Given the description of an element on the screen output the (x, y) to click on. 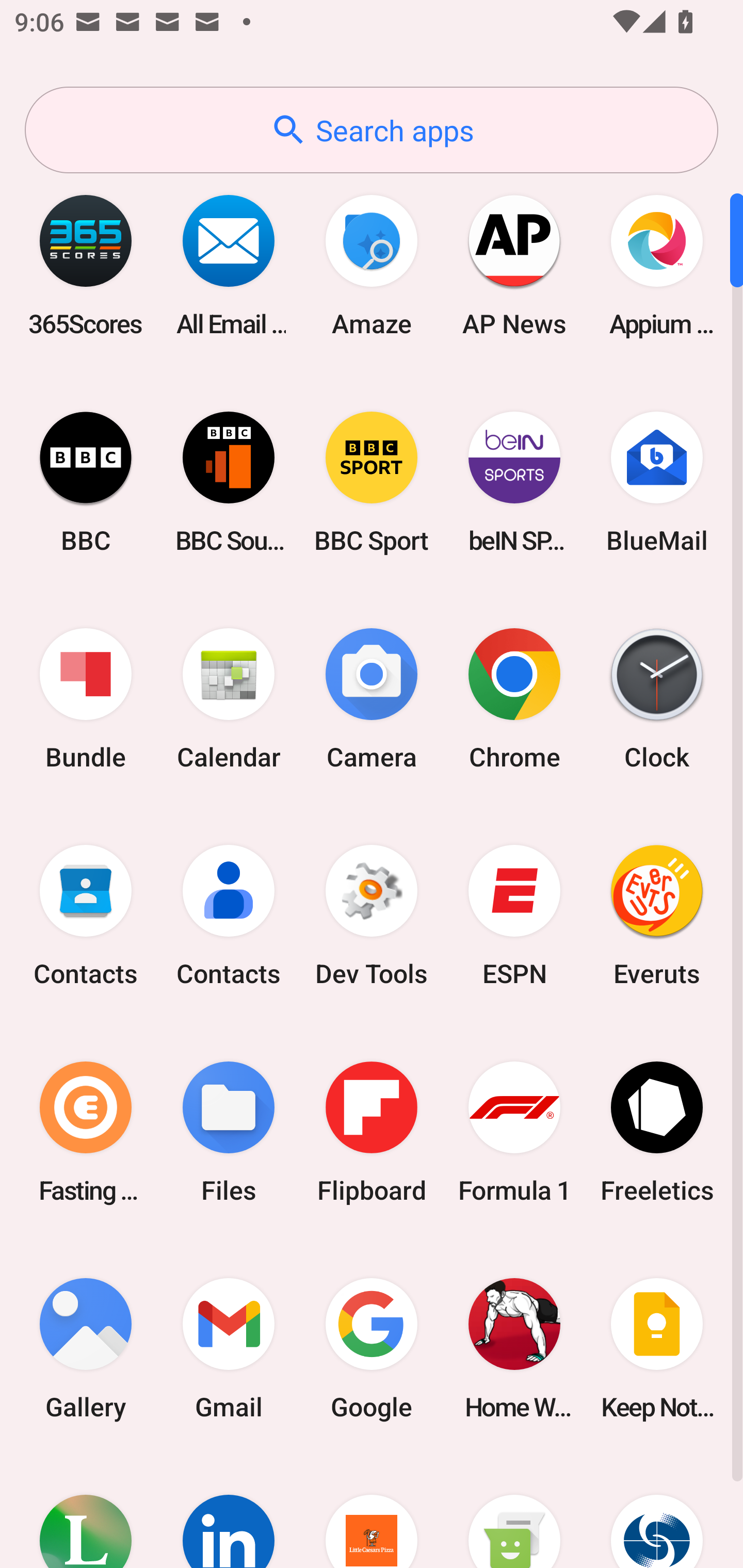
  Search apps (371, 130)
365Scores (85, 264)
All Email Connect (228, 264)
Amaze (371, 264)
AP News (514, 264)
Appium Settings (656, 264)
BBC (85, 482)
BBC Sounds (228, 482)
BBC Sport (371, 482)
beIN SPORTS (514, 482)
BlueMail (656, 482)
Bundle (85, 699)
Calendar (228, 699)
Camera (371, 699)
Chrome (514, 699)
Clock (656, 699)
Contacts (85, 915)
Contacts (228, 915)
Dev Tools (371, 915)
ESPN (514, 915)
Everuts (656, 915)
Fasting Coach (85, 1131)
Files (228, 1131)
Flipboard (371, 1131)
Formula 1 (514, 1131)
Freeletics (656, 1131)
Gallery (85, 1348)
Gmail (228, 1348)
Google (371, 1348)
Home Workout (514, 1348)
Keep Notes (656, 1348)
Lifesum (85, 1512)
LinkedIn (228, 1512)
Little Caesars Pizza (371, 1512)
Messaging (514, 1512)
MyObservatory (656, 1512)
